Given the description of an element on the screen output the (x, y) to click on. 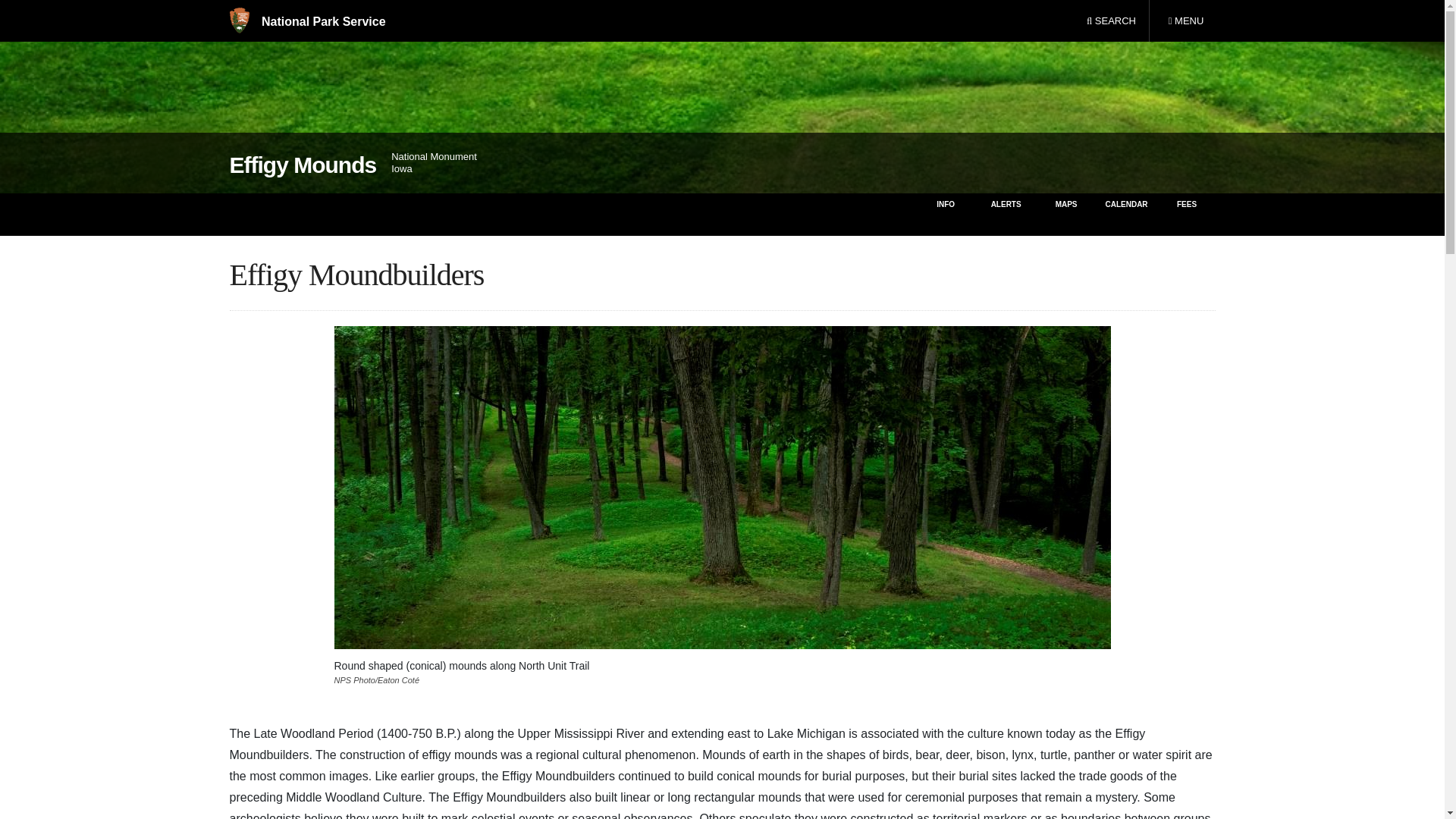
CALENDAR (1125, 214)
ALERTS (1004, 214)
SEARCH (1111, 20)
MAPS (1066, 214)
FEES (1185, 20)
INFO (1186, 214)
National Park Service (945, 214)
Effigy Mounds (307, 20)
Conical Mounds (301, 164)
